Given the description of an element on the screen output the (x, y) to click on. 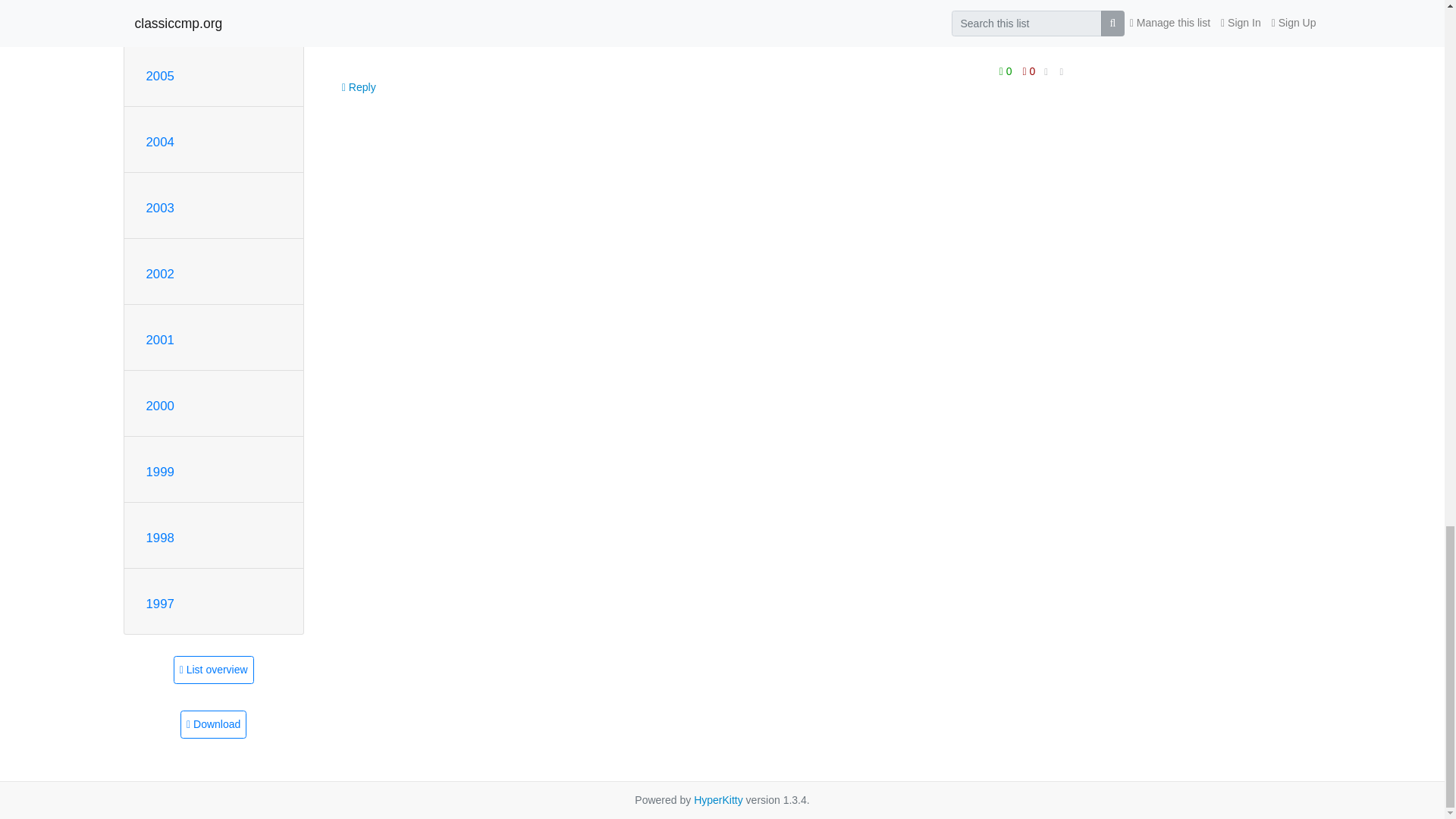
You must be logged-in to vote. (1029, 71)
You must be logged-in to vote. (1007, 71)
This message in gzipped mbox format (213, 724)
Sign in to reply online (359, 86)
